Given the description of an element on the screen output the (x, y) to click on. 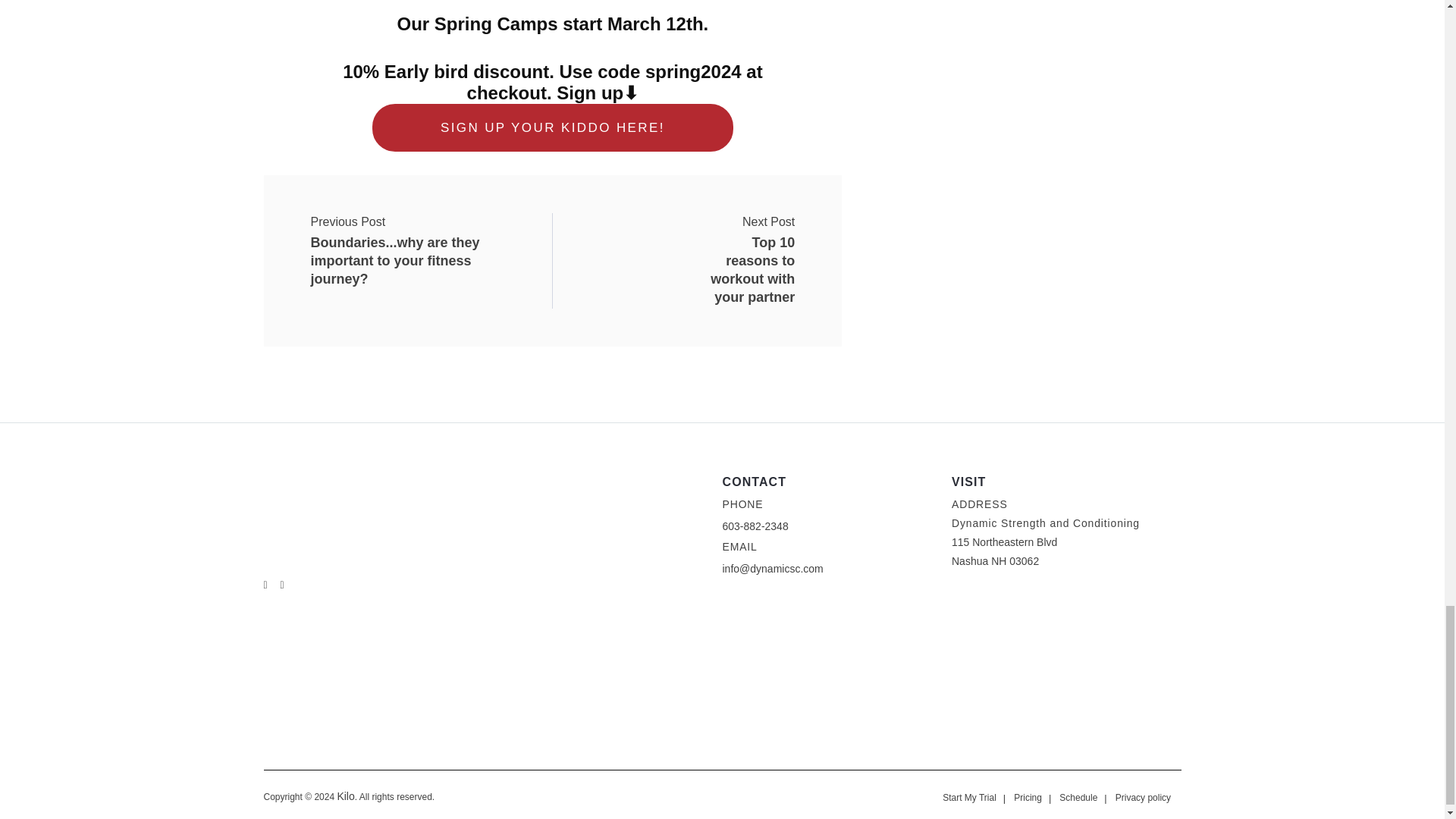
Top 10 reasons to workout with your partner (733, 232)
SIGN UP YOUR KIDDO HERE! (733, 232)
